Given the description of an element on the screen output the (x, y) to click on. 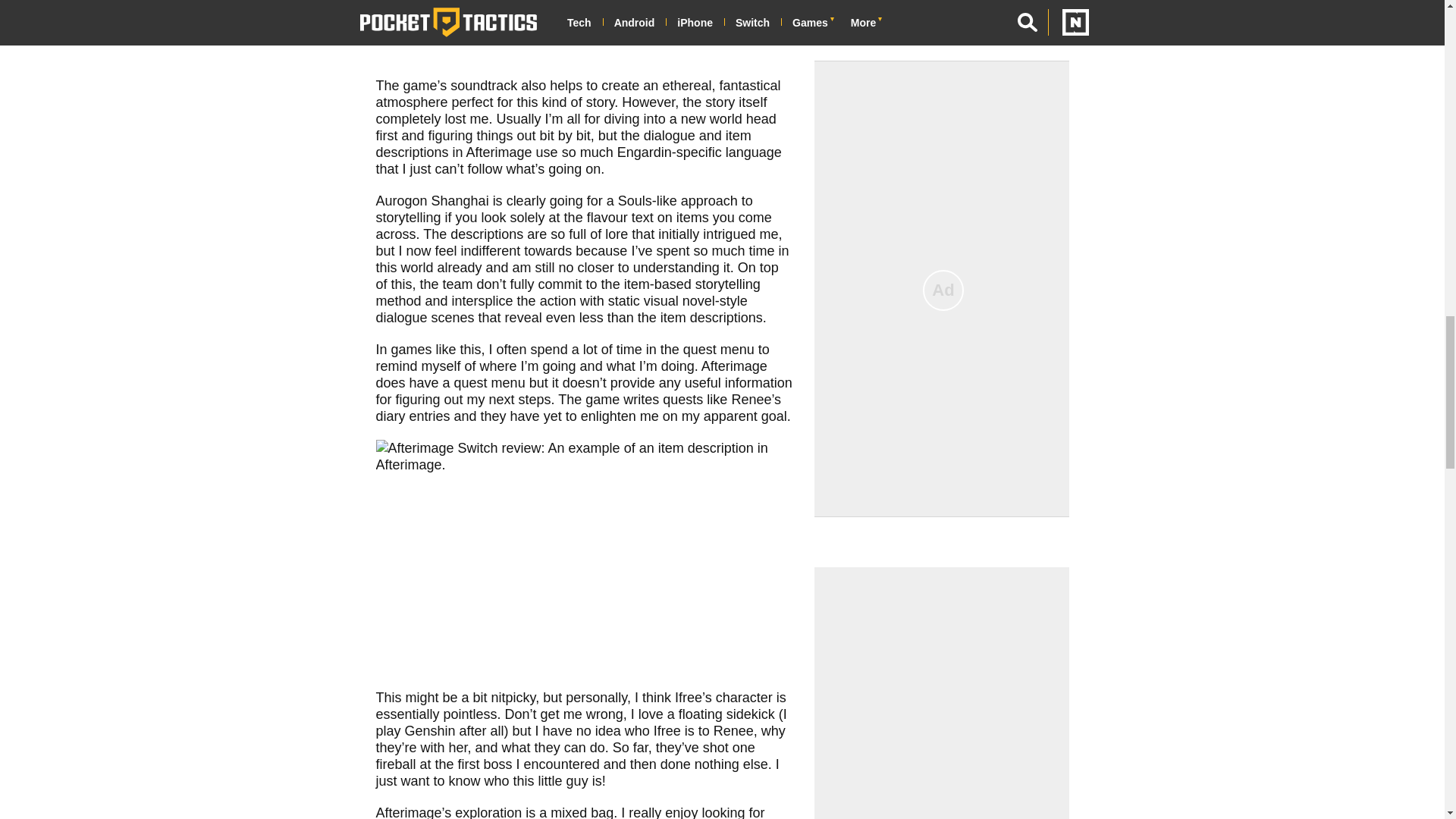
afterimage switch review 6 (584, 31)
afterimage switch review 7 (584, 556)
Souls-like (647, 200)
visual novel-style (695, 300)
